Given the description of an element on the screen output the (x, y) to click on. 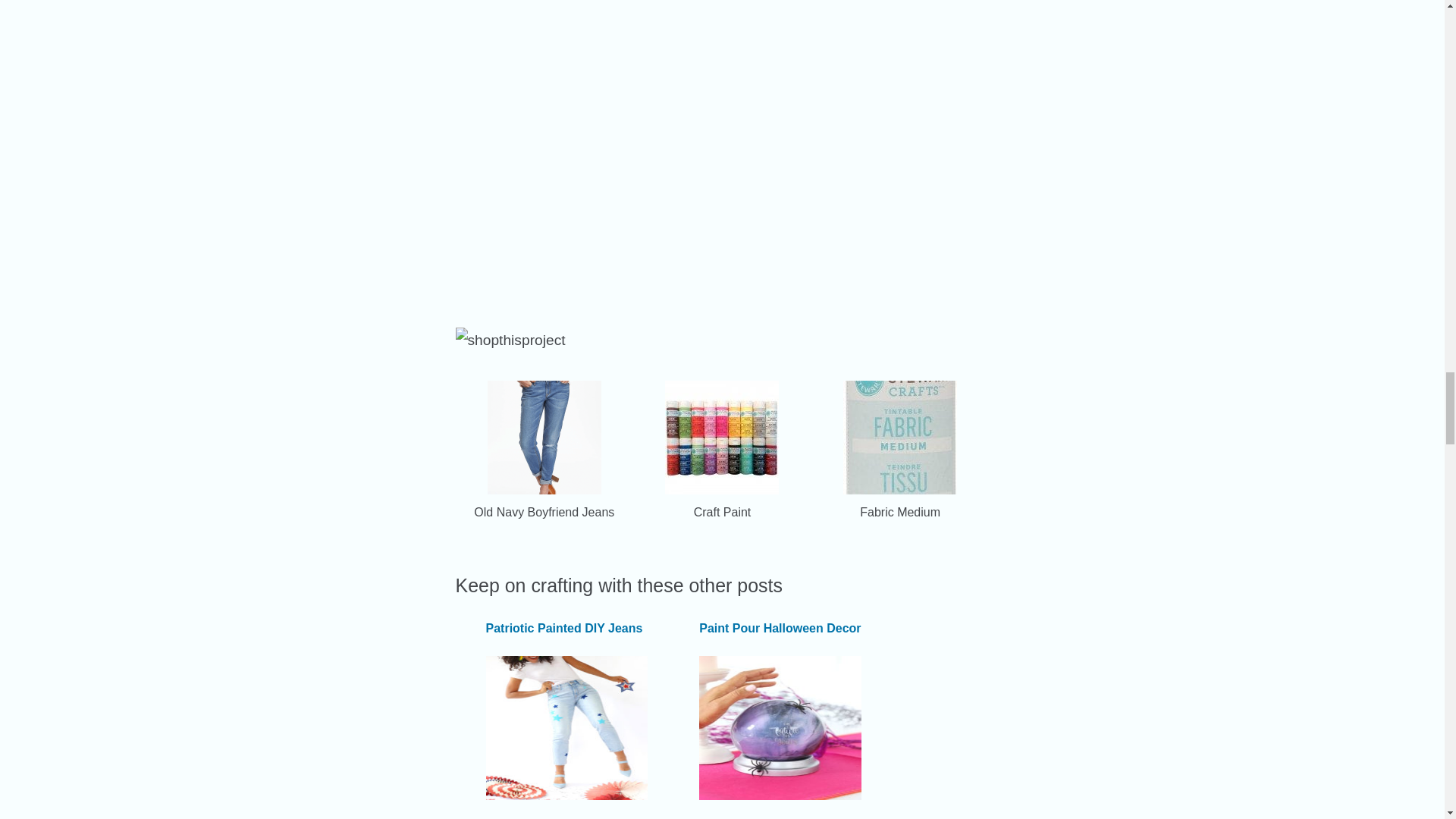
Paint Pour Halloween Decor (779, 627)
CraftPaint (721, 490)
Patriotic Painted DIY Jeans (563, 627)
boyfriend-jeans (544, 490)
